Given the description of an element on the screen output the (x, y) to click on. 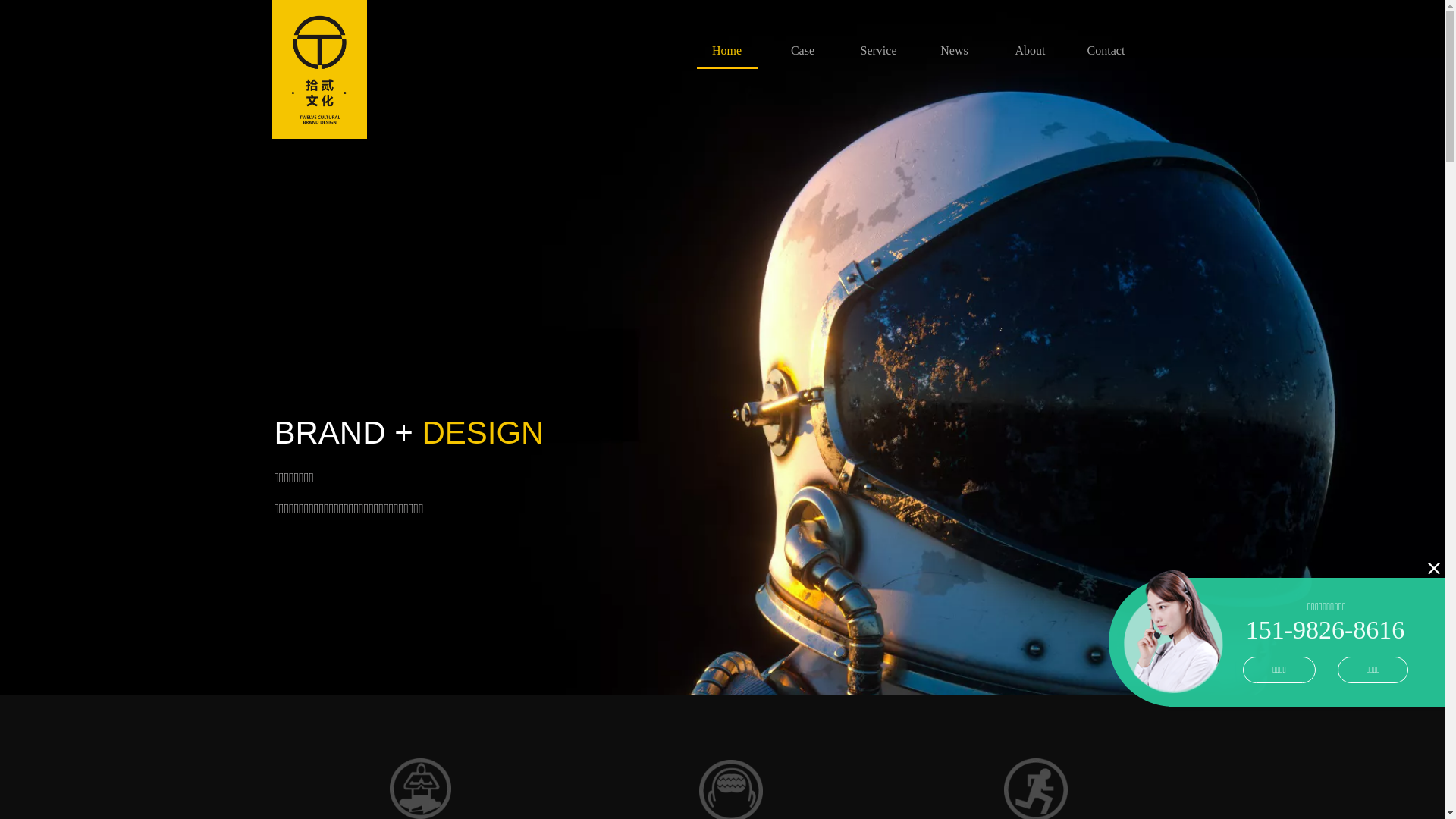
News Element type: text (953, 50)
Contact Element type: text (1105, 50)
Case Element type: text (802, 50)
Contact Element type: text (1105, 50)
About Element type: text (1029, 50)
Service Element type: text (877, 50)
Service Element type: text (877, 50)
Home Element type: text (726, 50)
News Element type: text (953, 50)
Case Element type: text (801, 50)
Home Element type: text (726, 50)
About Element type: text (1029, 50)
